Given the description of an element on the screen output the (x, y) to click on. 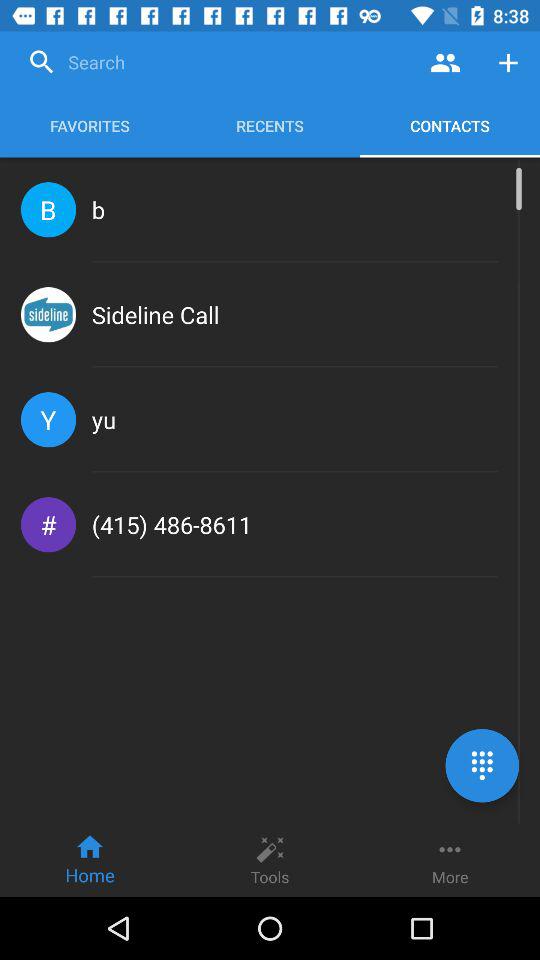
swipe until (415) 486-8611 (171, 524)
